Given the description of an element on the screen output the (x, y) to click on. 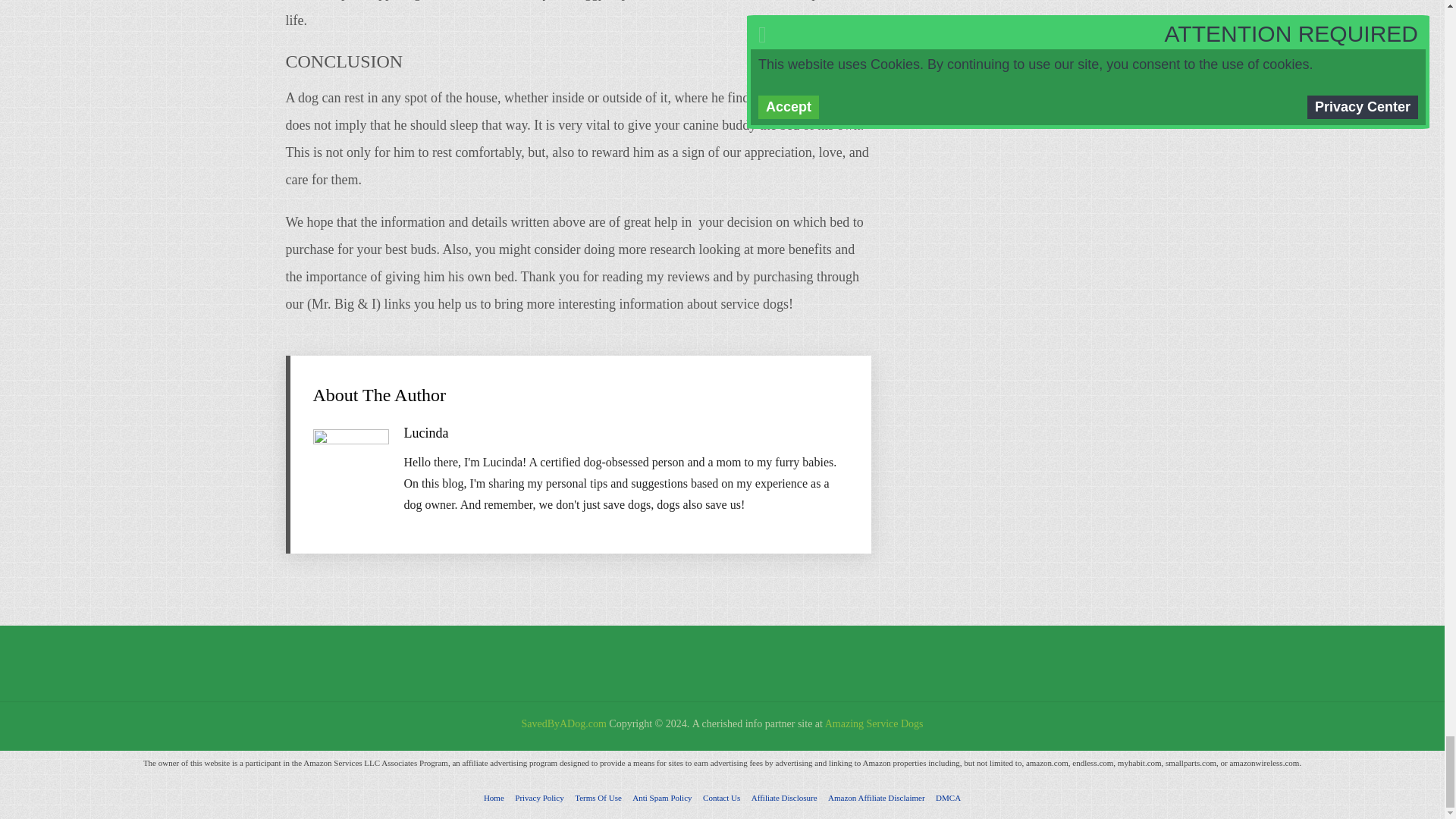
 Recommendations based on a profound love for dogs! (563, 723)
